Given the description of an element on the screen output the (x, y) to click on. 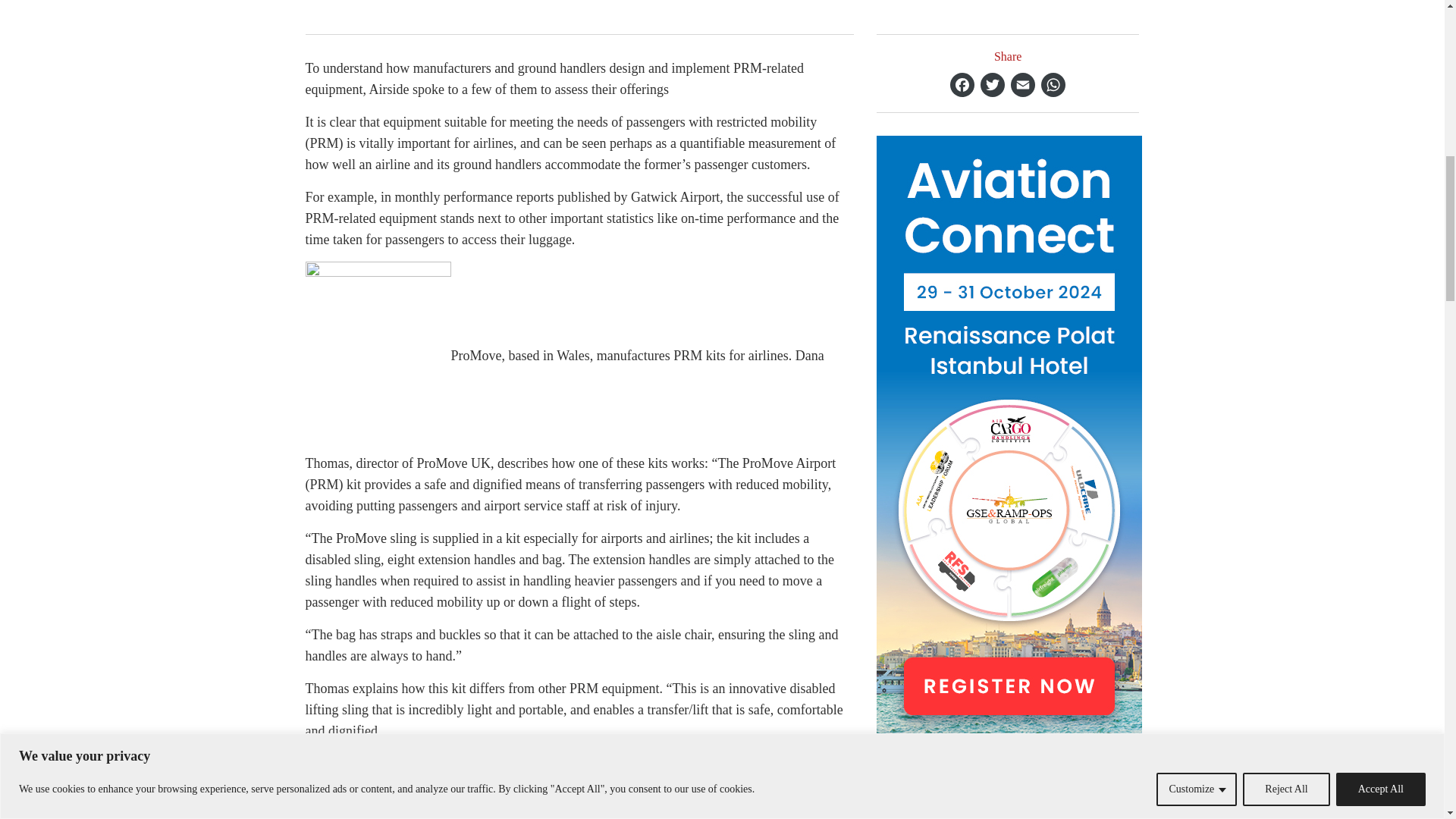
Email (1022, 84)
Facebook (961, 84)
Twitter (991, 84)
WhatsApp (1053, 84)
